Given the description of an element on the screen output the (x, y) to click on. 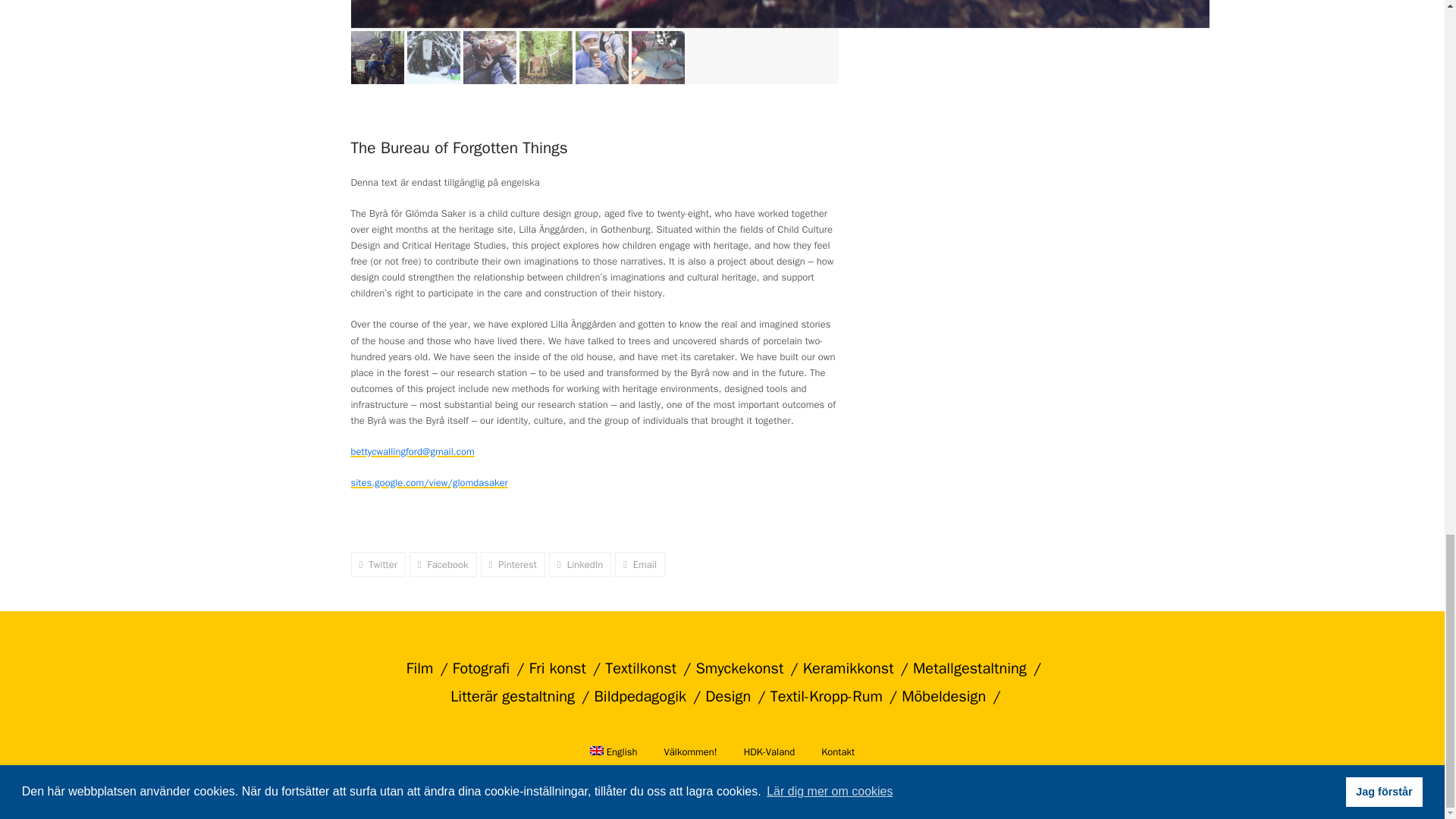
Textilkonst (644, 668)
Keramikkonst (852, 668)
LinkedIn (579, 564)
Twitter (377, 564)
Film (424, 668)
Pinterest (512, 564)
English (613, 751)
Smyckekonst (742, 668)
Email (639, 564)
Facebook (443, 564)
